Given the description of an element on the screen output the (x, y) to click on. 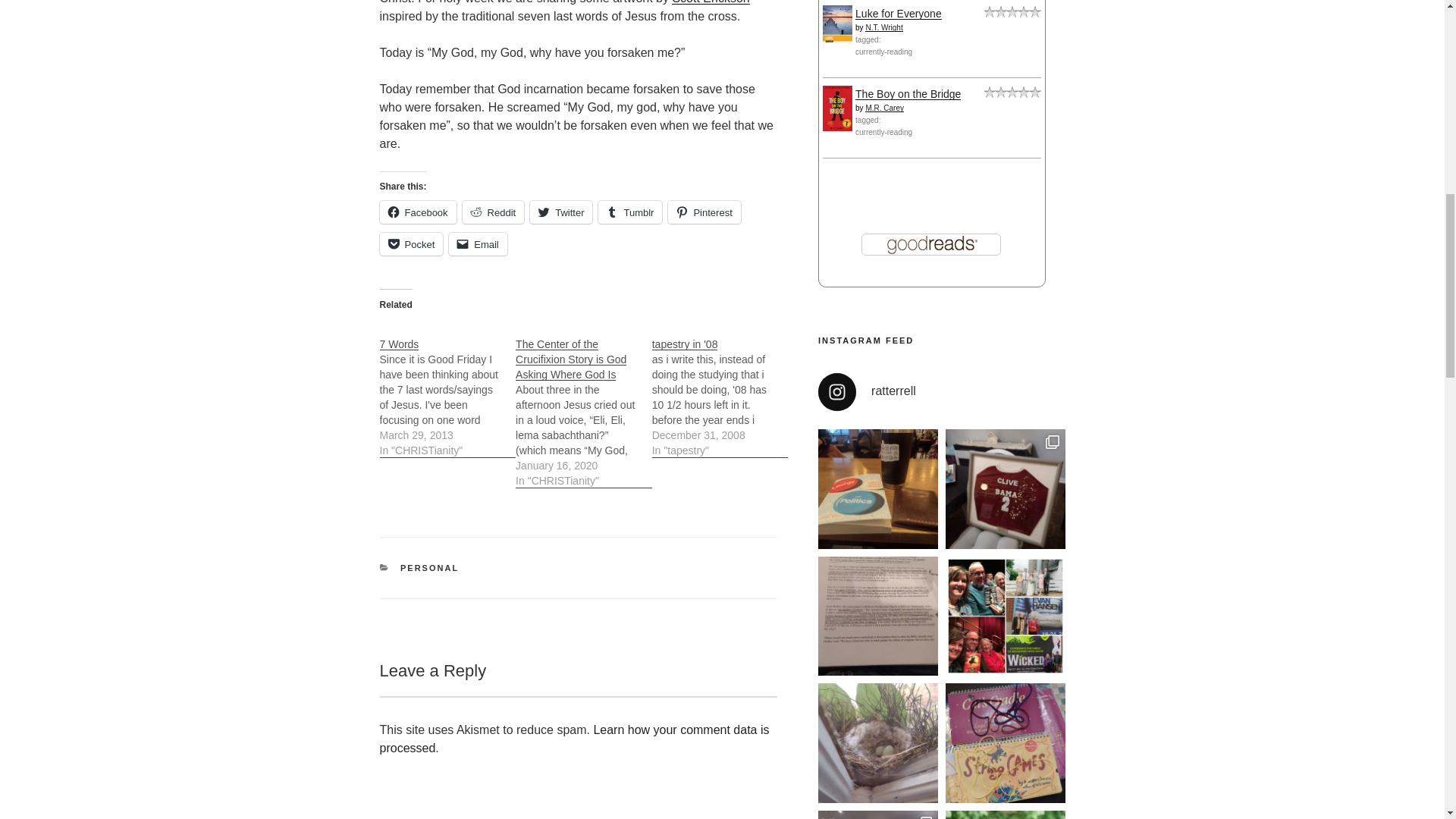
7 Words (446, 389)
Email (477, 243)
Reddit (493, 211)
7 Words (398, 344)
Click to share on Reddit (493, 211)
Pocket (410, 243)
Twitter (560, 211)
Click to share on Twitter (560, 211)
Click to share on Pocket (410, 243)
PERSONAL (429, 567)
Pinterest (703, 211)
Learn how your comment data is processed (573, 738)
Tumblr (630, 211)
Scott Erickson (710, 2)
